Given the description of an element on the screen output the (x, y) to click on. 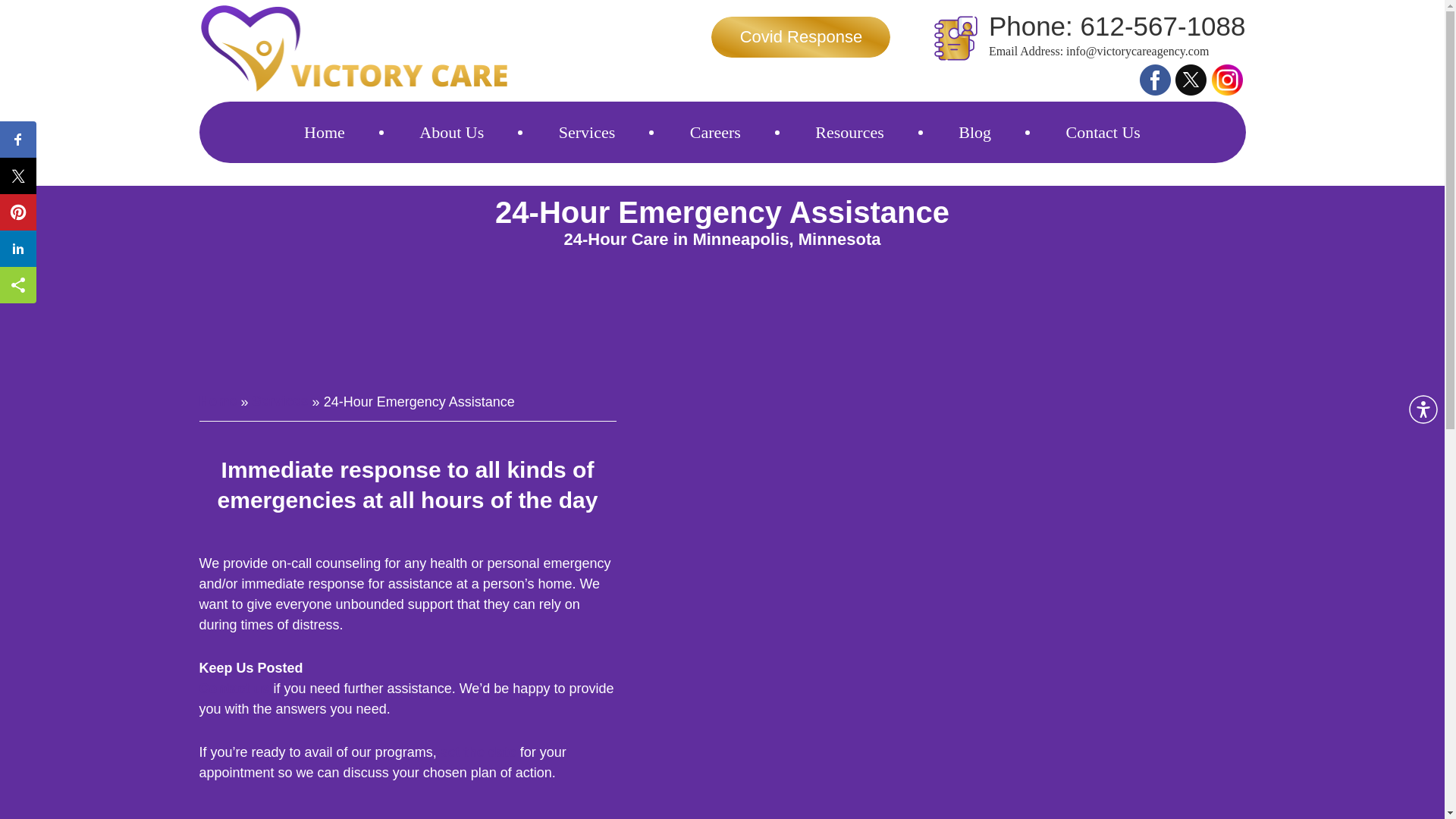
Contact Us (1102, 131)
Resources (849, 131)
Home (216, 401)
Contact us (233, 688)
Covid Response (800, 36)
Accessibility Menu (1422, 409)
About Us (451, 131)
Services (279, 401)
Services (587, 131)
set the date (478, 752)
